Given the description of an element on the screen output the (x, y) to click on. 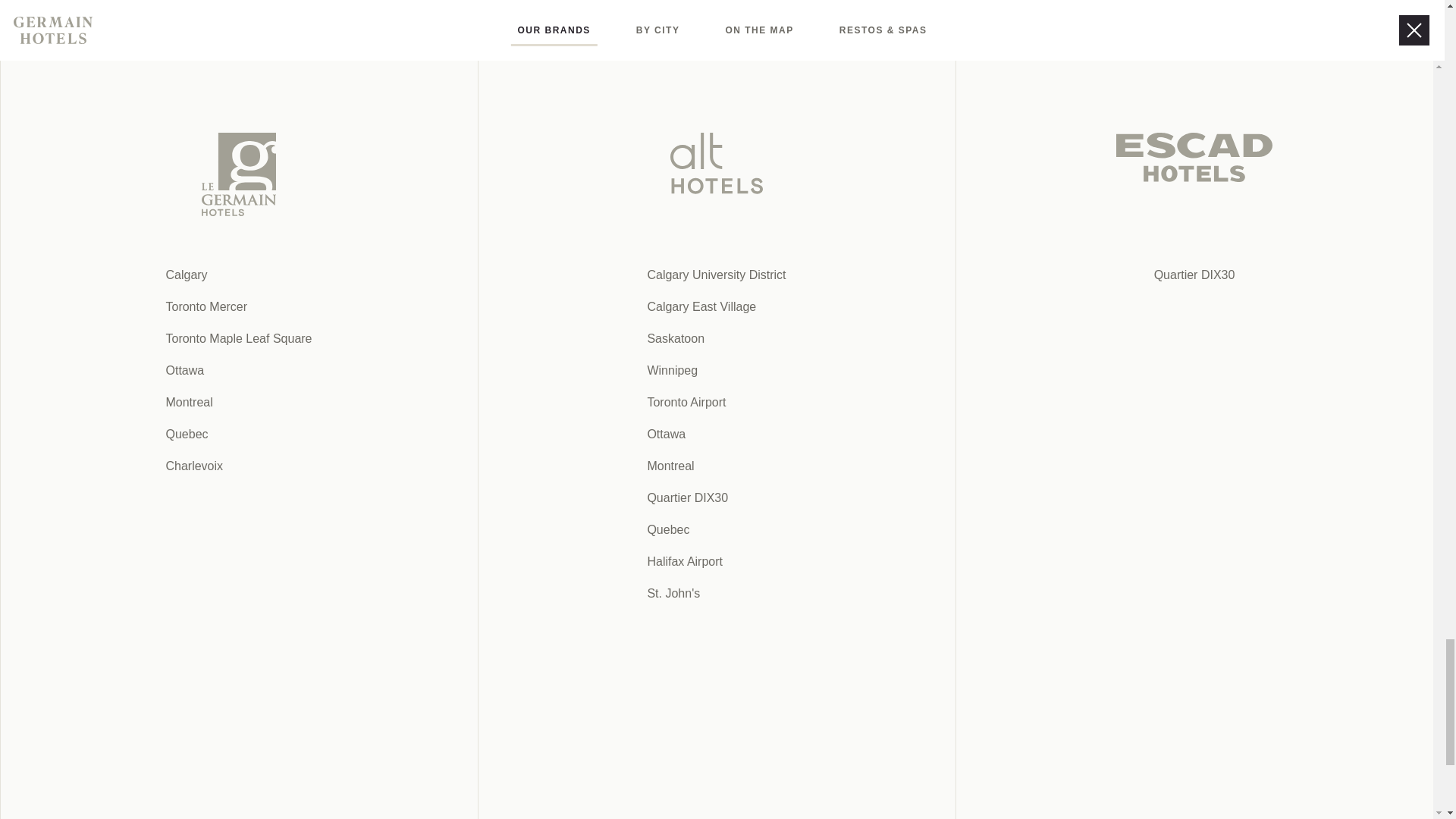
Saskatoon (296, 6)
Activities (363, 6)
Read more (498, 4)
